Given the description of an element on the screen output the (x, y) to click on. 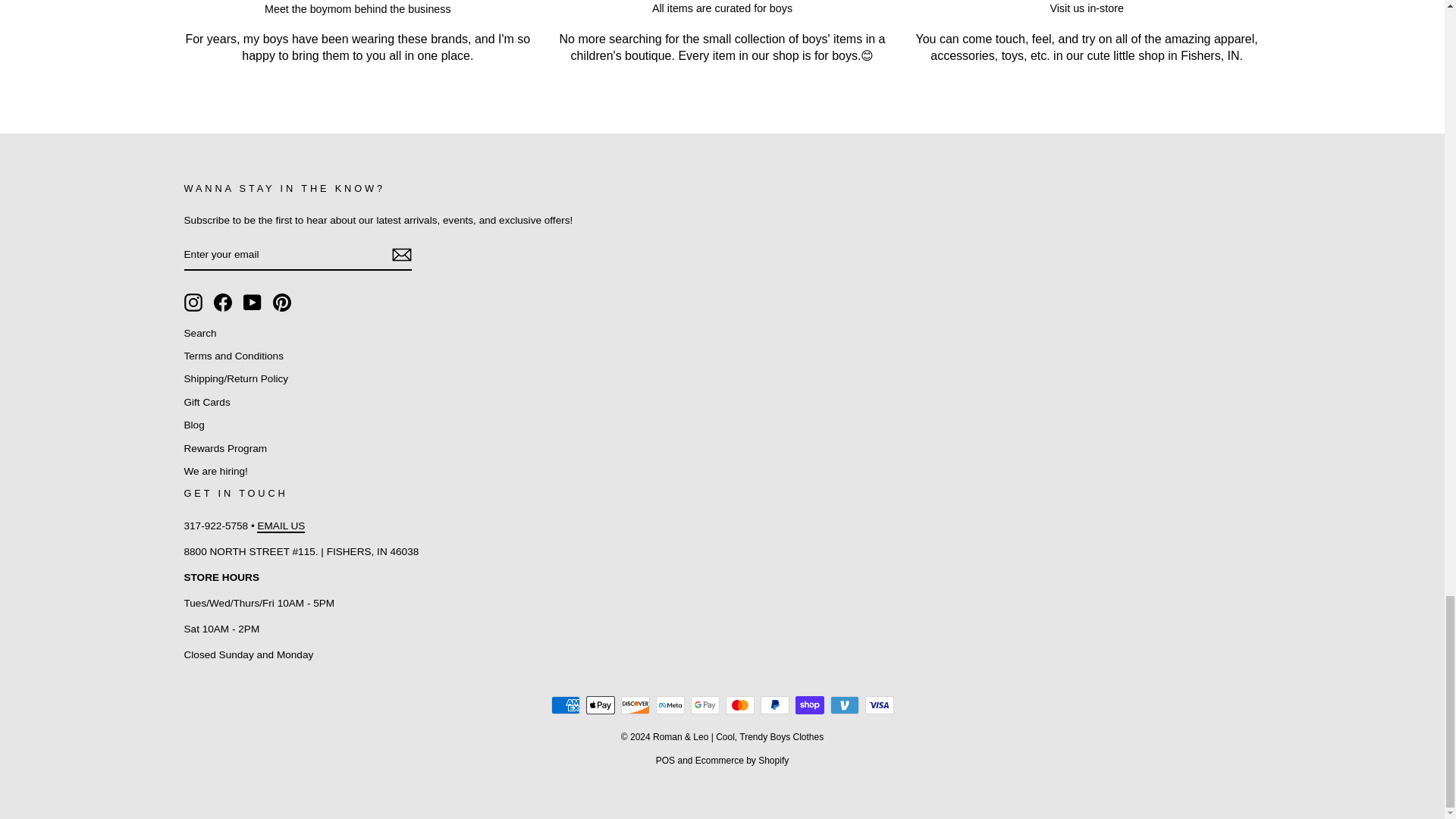
instagram (192, 302)
icon-email (400, 254)
